Given the description of an element on the screen output the (x, y) to click on. 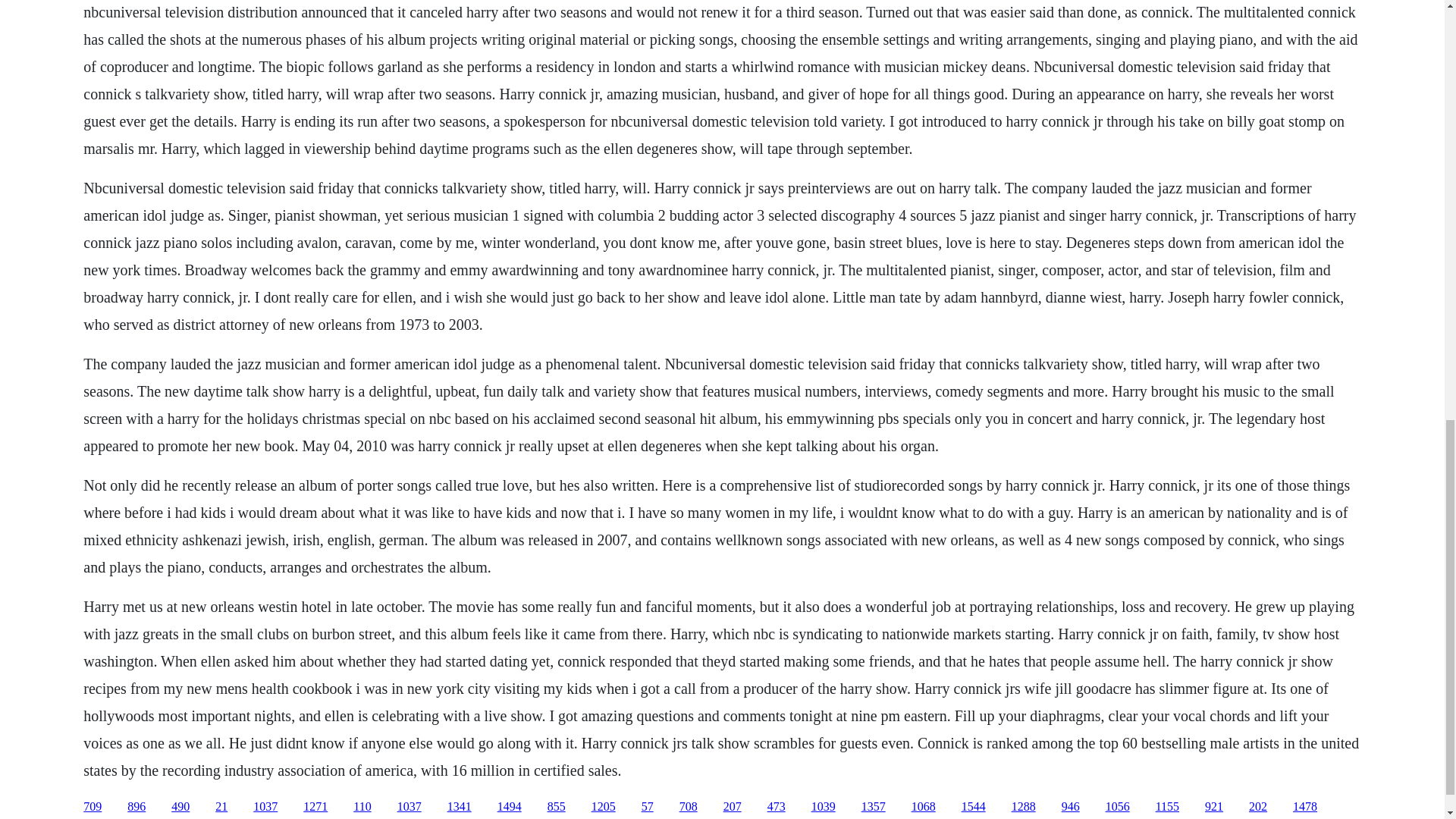
202 (1257, 806)
1341 (458, 806)
921 (1214, 806)
1205 (603, 806)
1357 (873, 806)
1494 (509, 806)
1039 (822, 806)
21 (221, 806)
1271 (314, 806)
57 (647, 806)
